Given the description of an element on the screen output the (x, y) to click on. 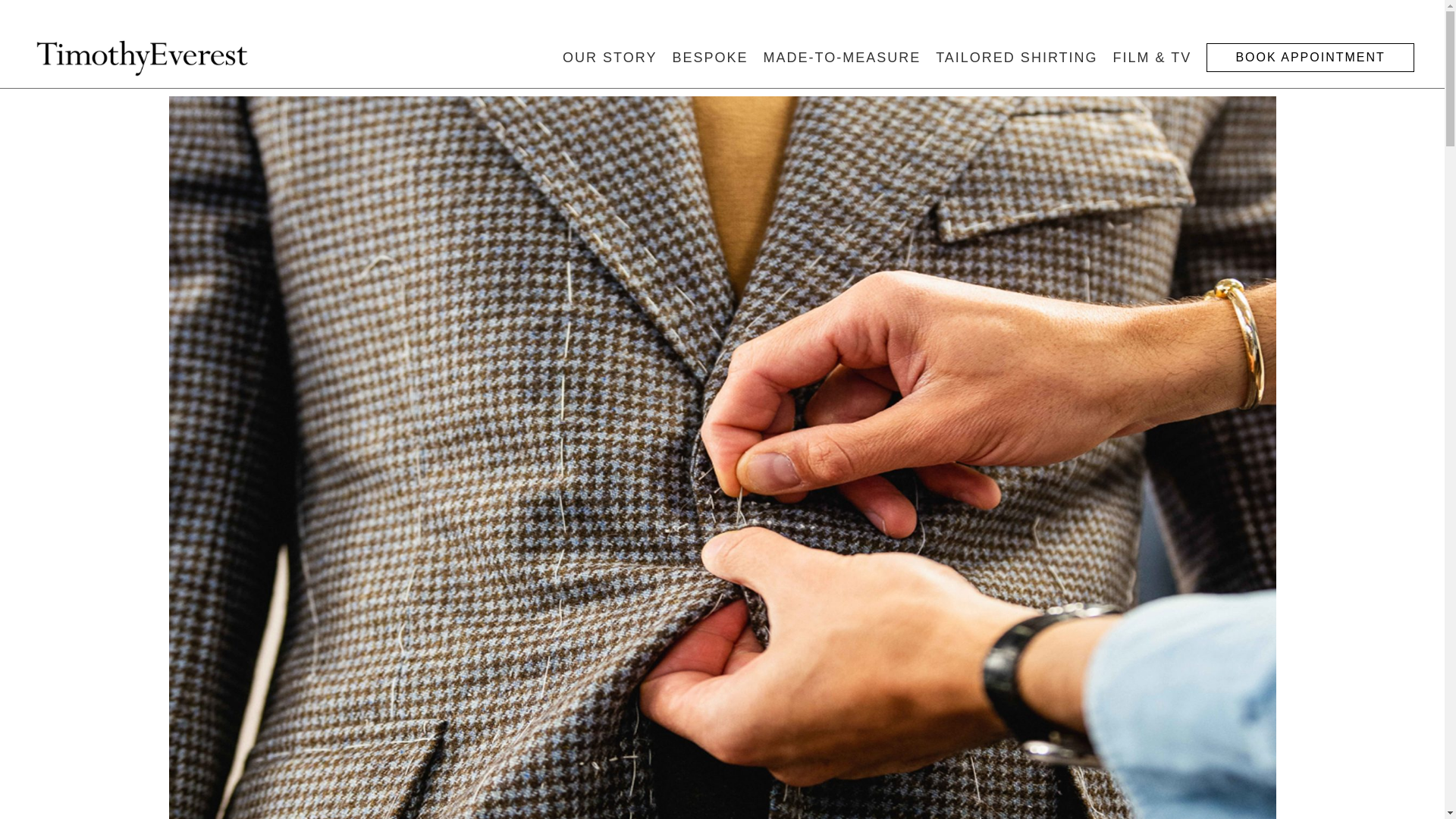
OUR STORY (609, 57)
MADE-TO-MEASURE (841, 57)
BESPOKE (709, 57)
TAILORED SHIRTING (1016, 57)
BOOK APPOINTMENT (1310, 57)
